Given the description of an element on the screen output the (x, y) to click on. 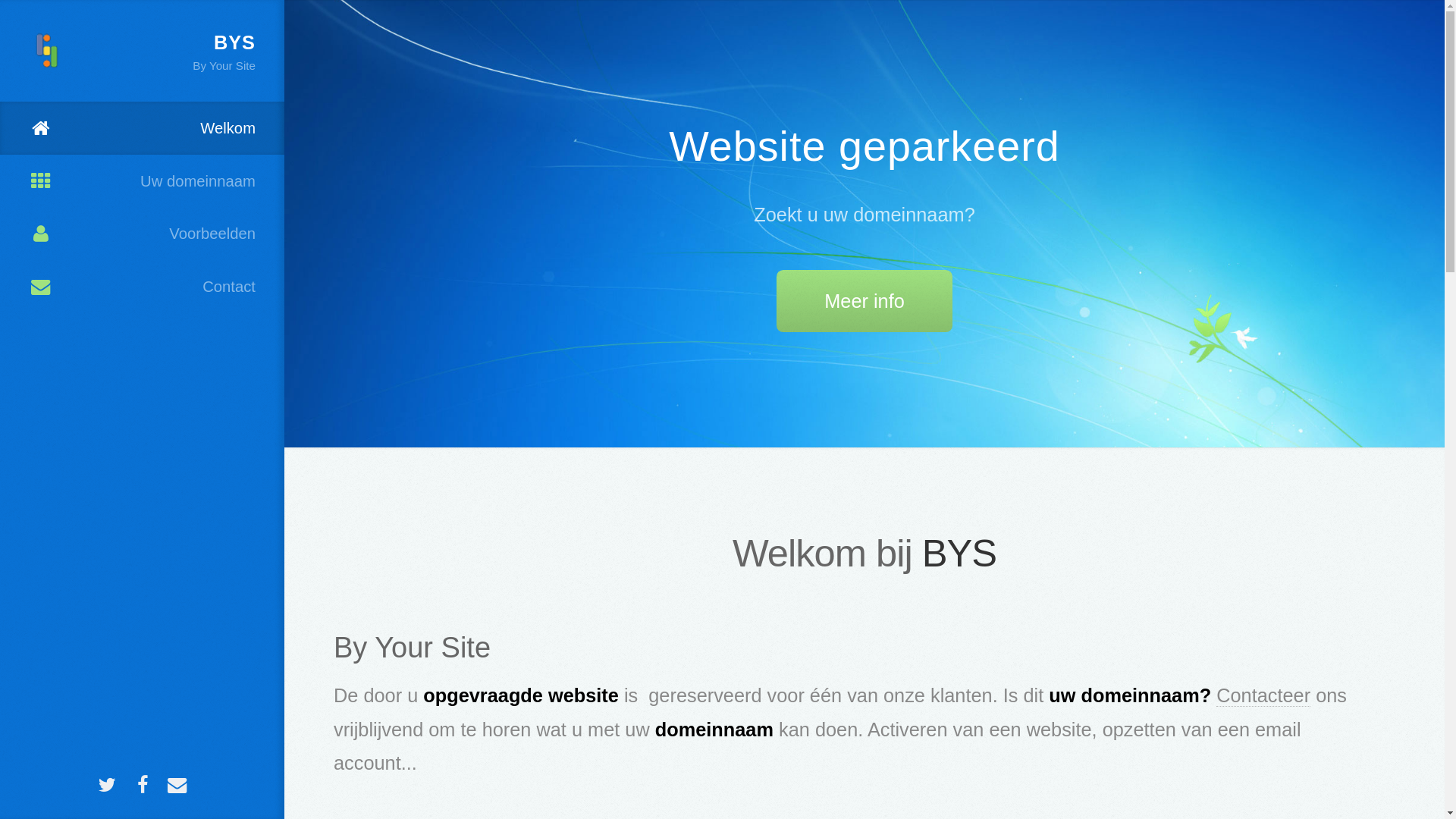
Uw domeinnaam Element type: text (142, 180)
Meer info Element type: text (864, 300)
Contacteer Element type: text (1263, 695)
Welkom Element type: text (142, 127)
Voorbeelden Element type: text (142, 233)
Contact Element type: text (142, 286)
